Given the description of an element on the screen output the (x, y) to click on. 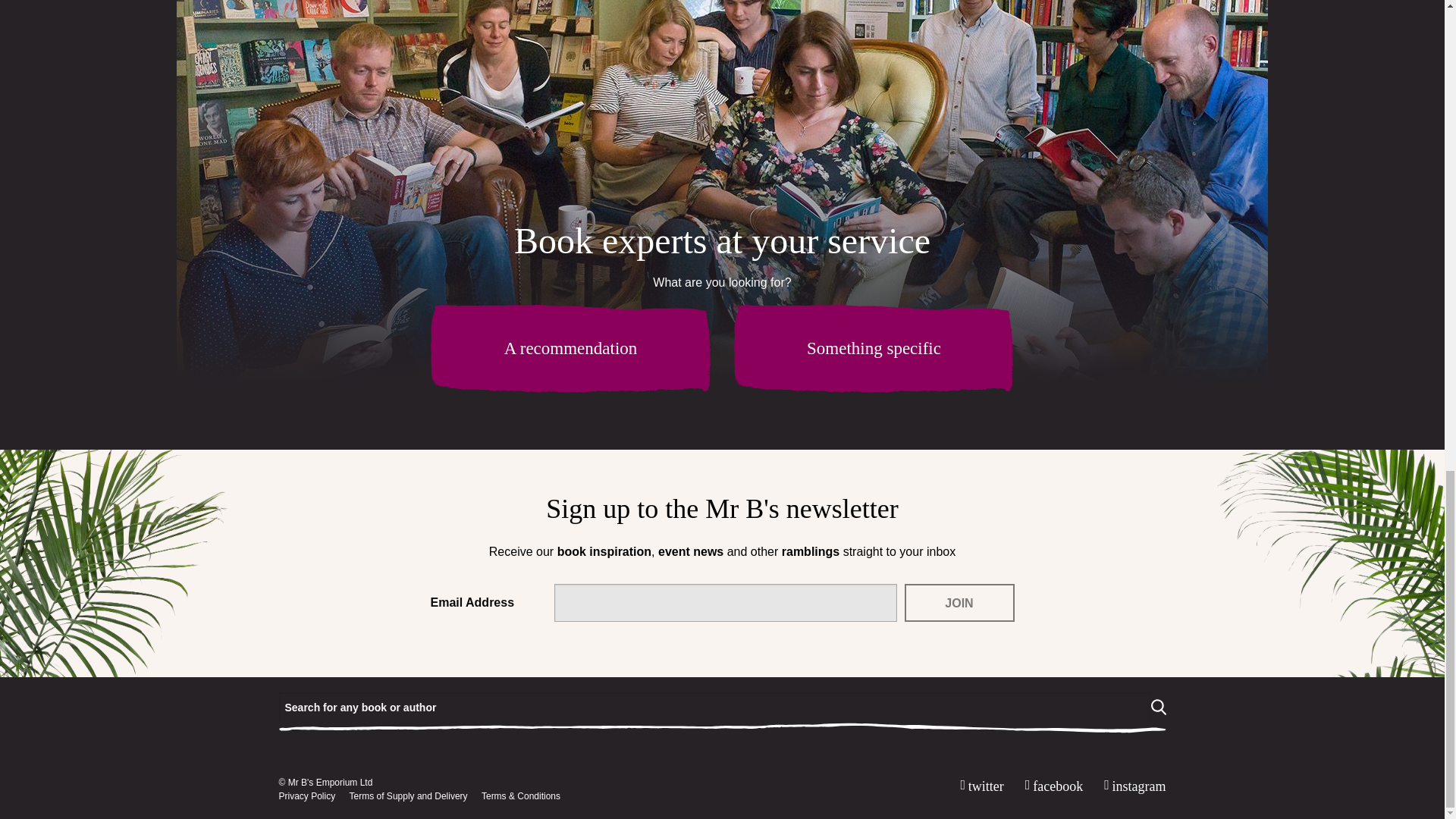
instagram (1131, 786)
Join (958, 602)
Join (958, 602)
Privacy Policy (307, 795)
Terms of Supply and Delivery (408, 795)
facebook (1050, 786)
twitter (978, 786)
